Given the description of an element on the screen output the (x, y) to click on. 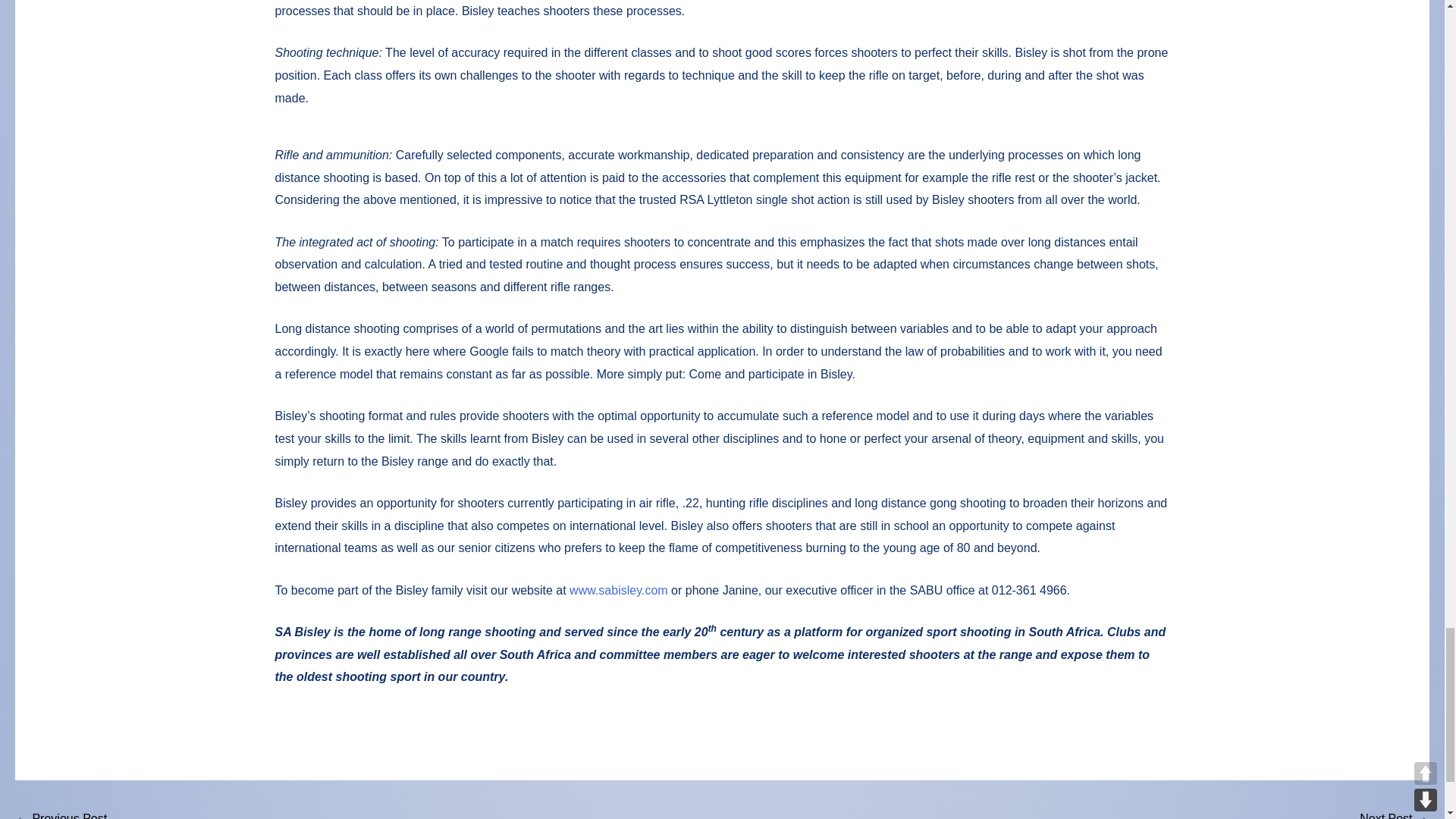
SABU 80th SA Open Championships (61, 812)
The Road to Gold - FCWC2021 (1393, 812)
